Given the description of an element on the screen output the (x, y) to click on. 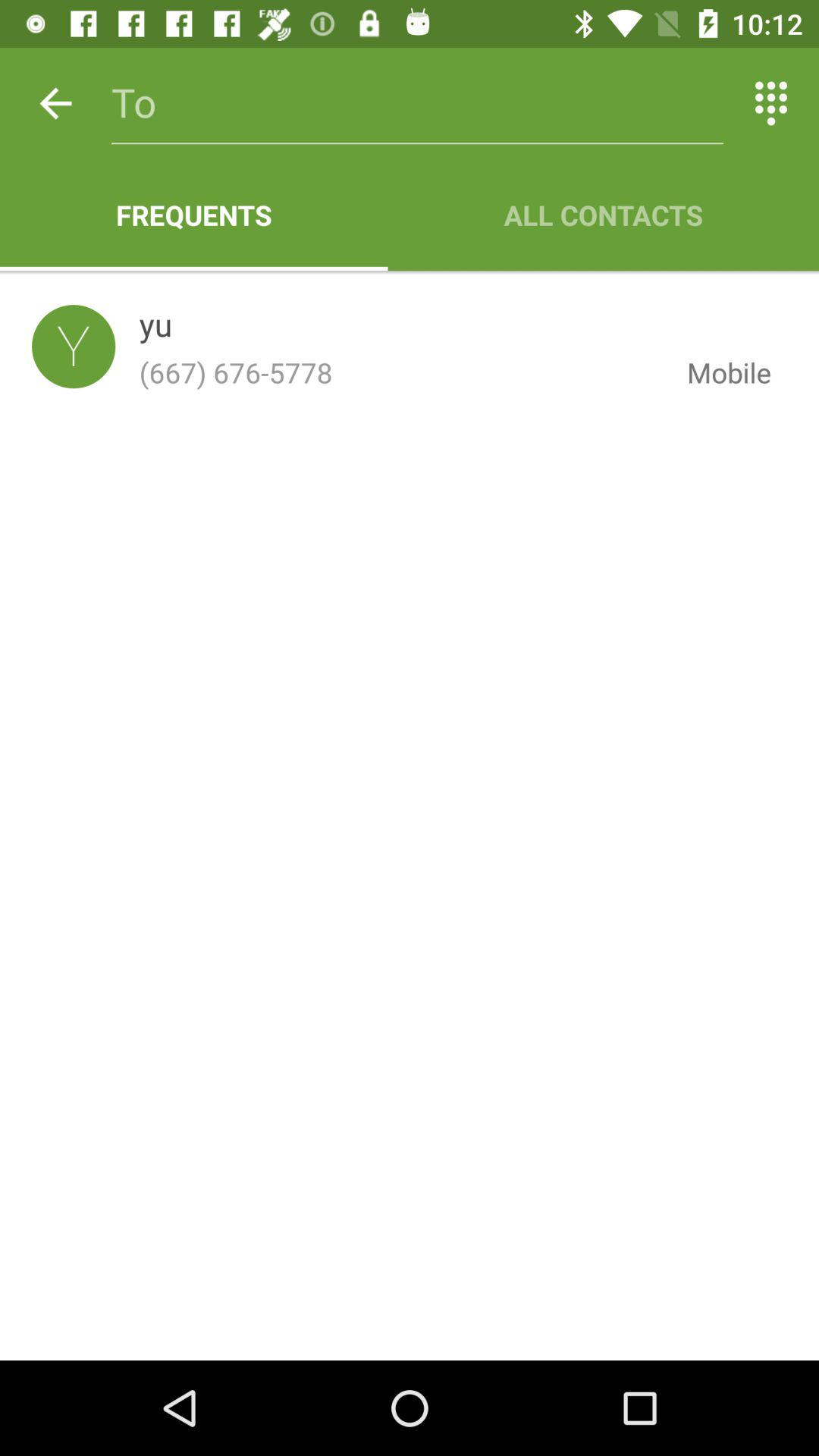
swipe until mobile icon (717, 372)
